Given the description of an element on the screen output the (x, y) to click on. 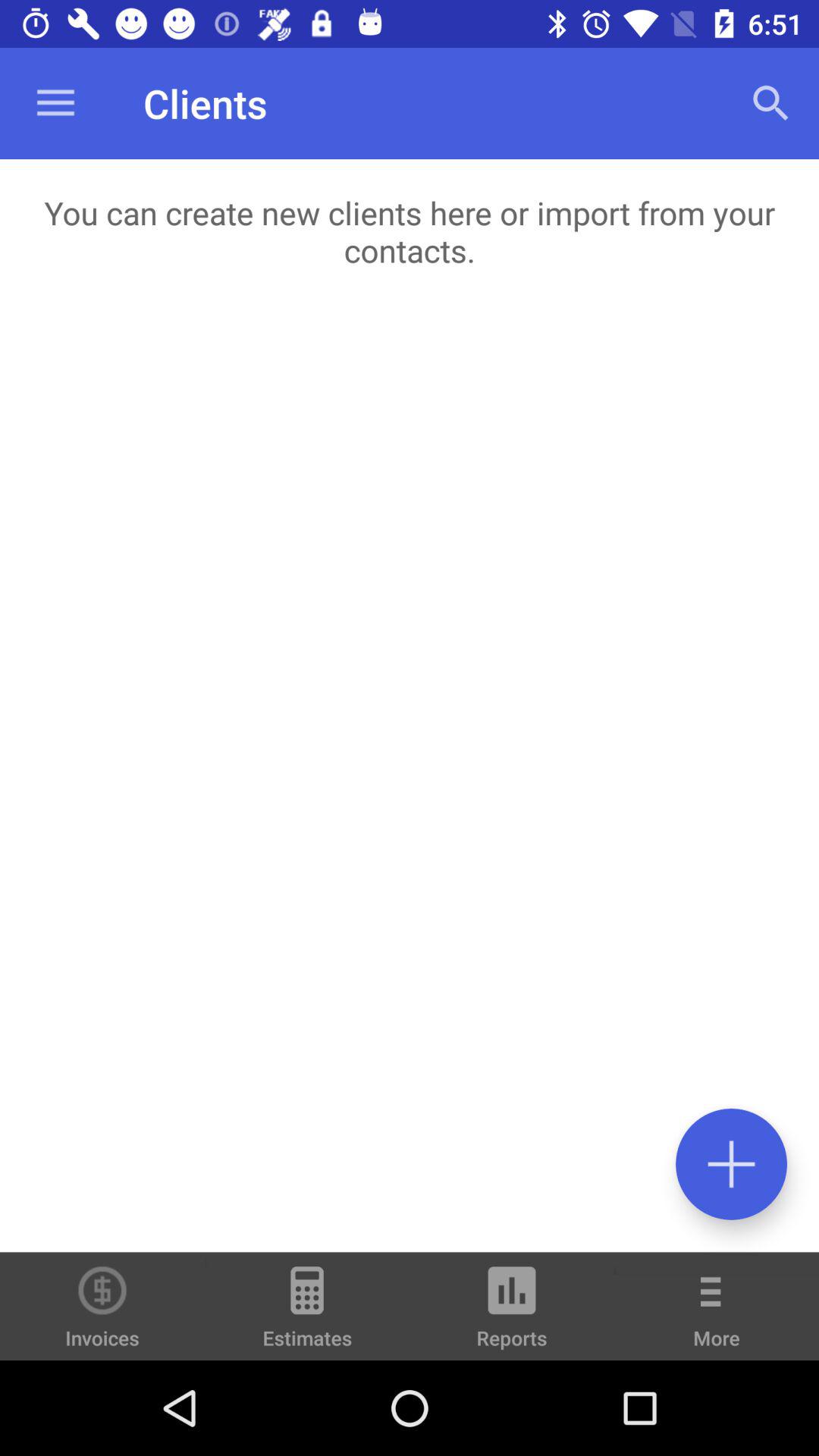
turn on item next to estimates item (511, 1313)
